Given the description of an element on the screen output the (x, y) to click on. 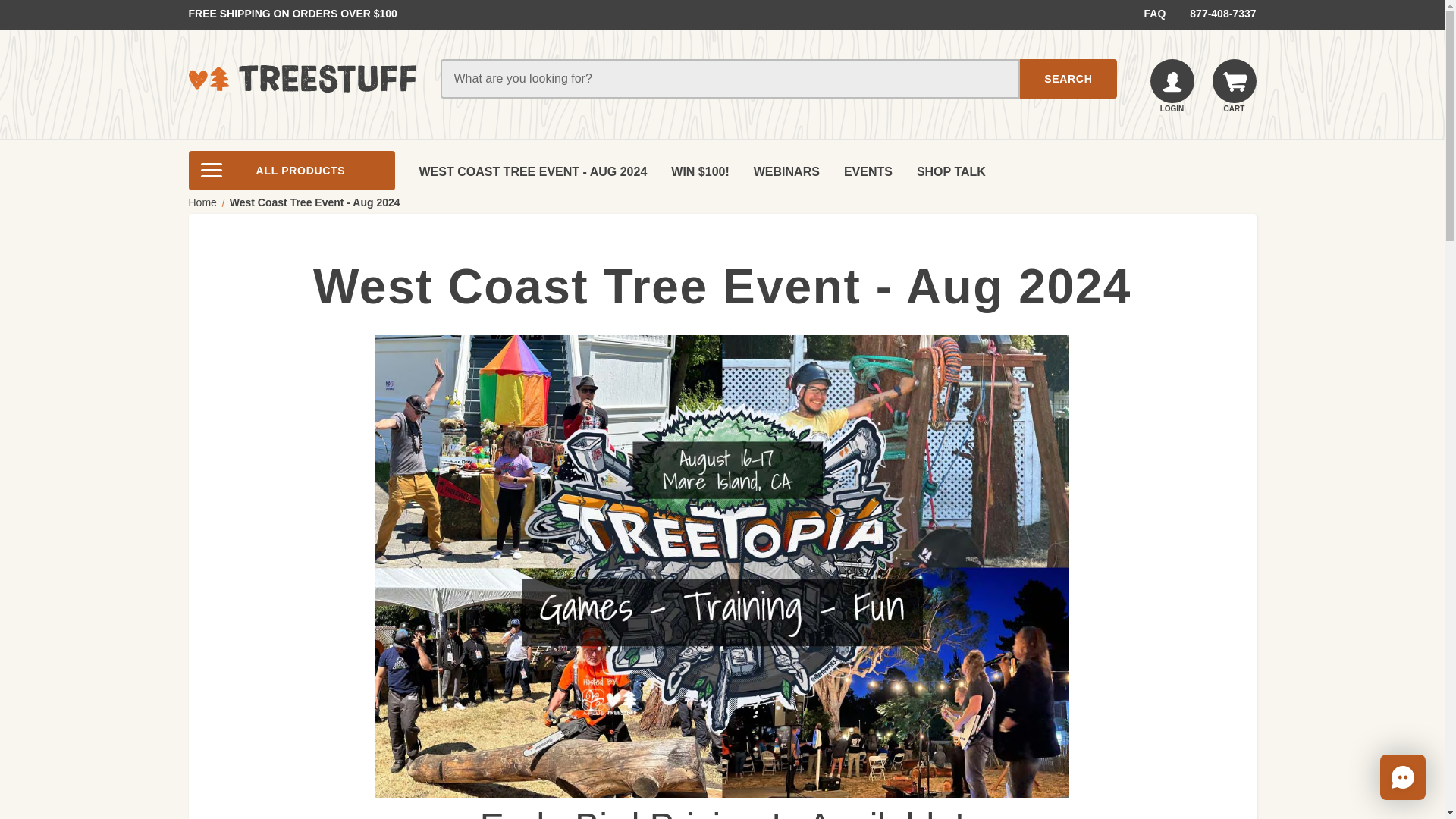
877-408-7337 (1216, 13)
Search (1068, 78)
TreeStuff.com (300, 78)
ALL PRODUCTS (290, 170)
Search (1068, 78)
FAQ (1154, 13)
